Given the description of an element on the screen output the (x, y) to click on. 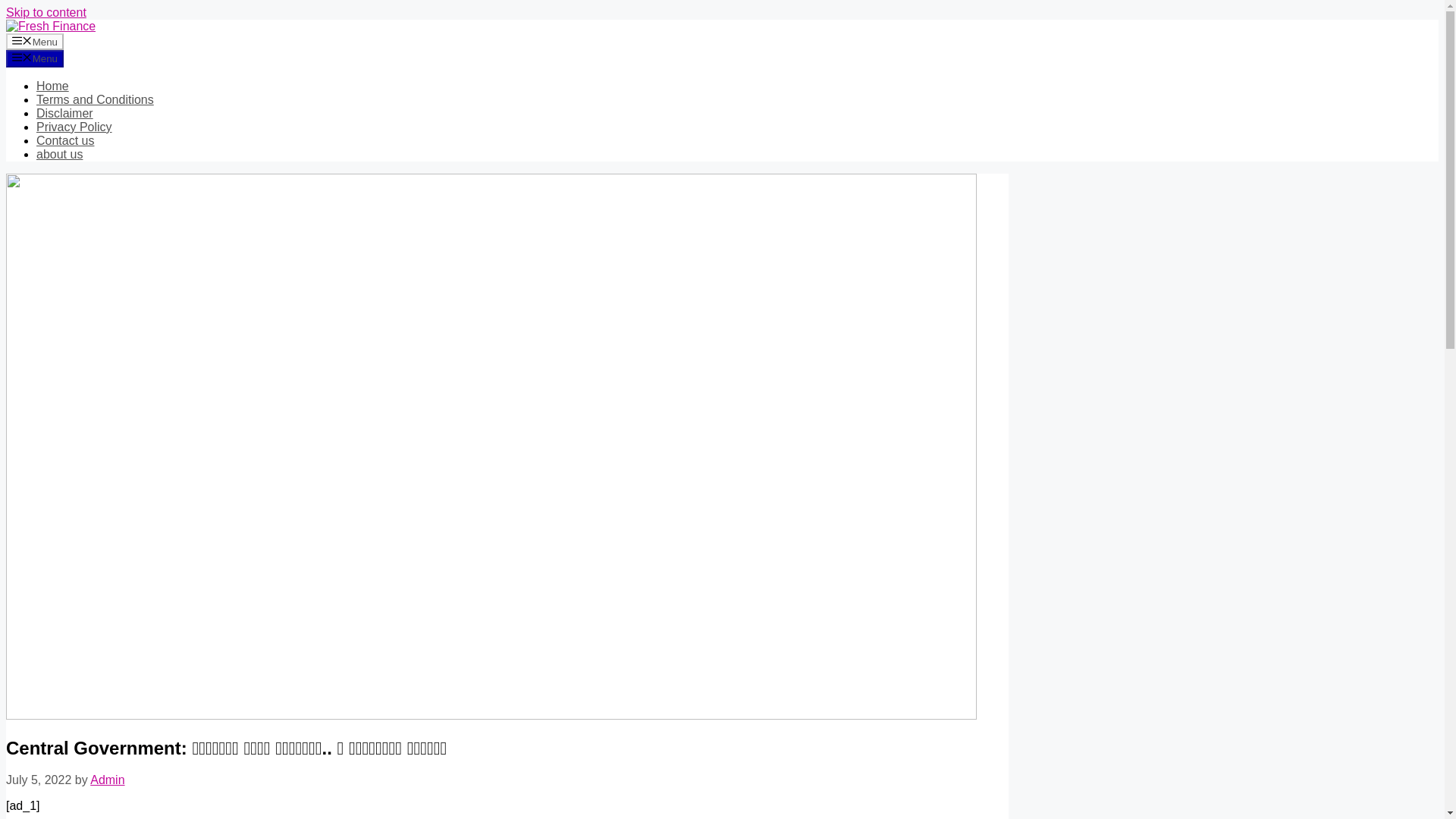
Menu (34, 57)
Skip to content (45, 11)
Skip to content (45, 11)
Terms and Conditions (95, 99)
about us (59, 154)
Privacy Policy (74, 126)
Home (52, 85)
Menu (34, 41)
View all posts by Admin (106, 779)
Disclaimer (64, 113)
Contact us (65, 140)
Admin (106, 779)
